Given the description of an element on the screen output the (x, y) to click on. 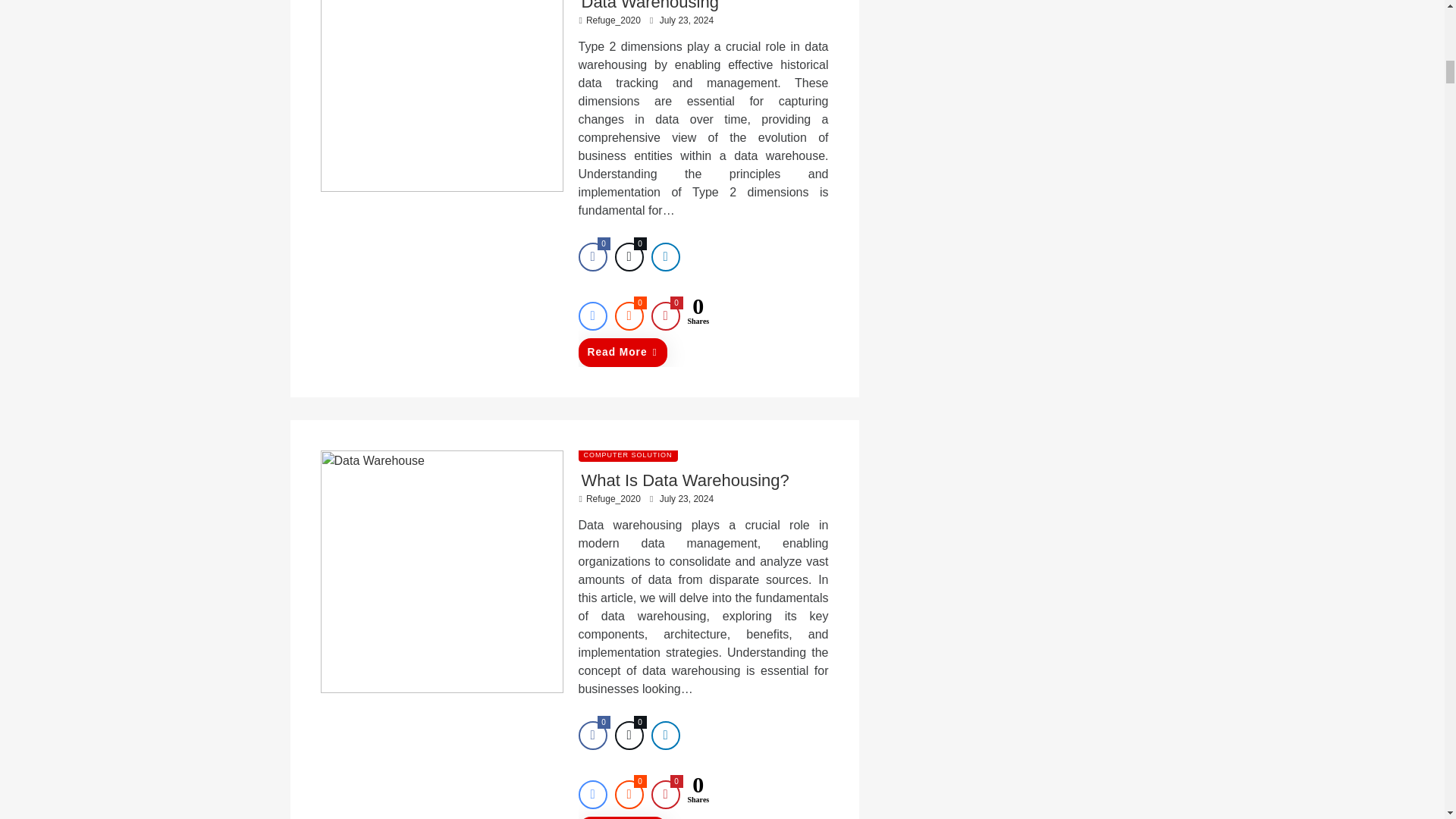
What Is Data Warehousing? 8 (441, 571)
What Is Type 2 Dimensions In Data Warehousing 7 (441, 95)
